Given the description of an element on the screen output the (x, y) to click on. 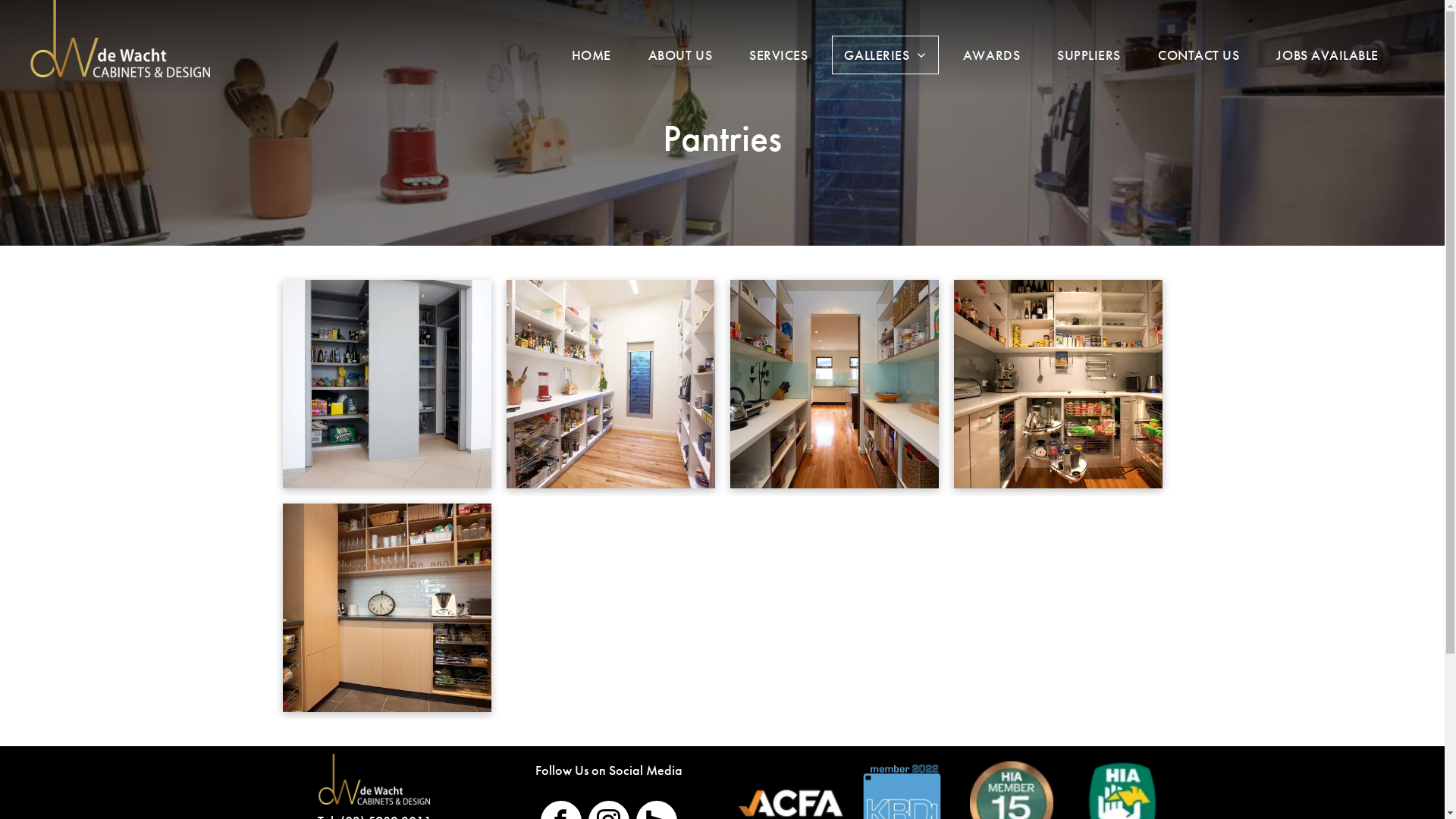
SERVICES Element type: text (778, 54)
ABOUT US Element type: text (679, 54)
JOBS AVAILABLE Element type: text (1327, 54)
SUPPLIERS Element type: text (1088, 54)
AWARDS Element type: text (991, 54)
CONTACT US Element type: text (1198, 54)
HOME Element type: text (591, 54)
GALLERIES Element type: text (884, 54)
